Given the description of an element on the screen output the (x, y) to click on. 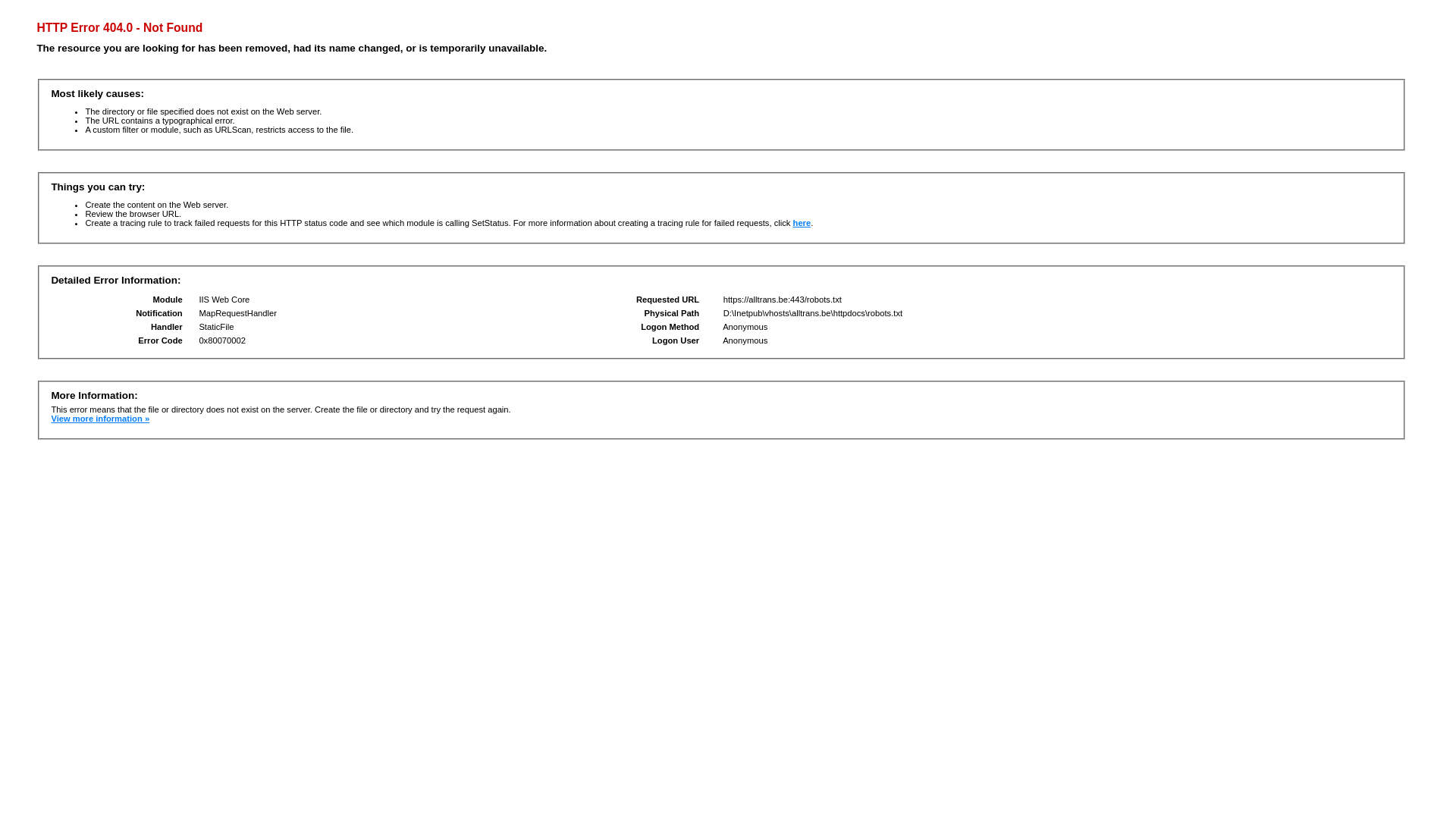
here Element type: text (802, 222)
